Given the description of an element on the screen output the (x, y) to click on. 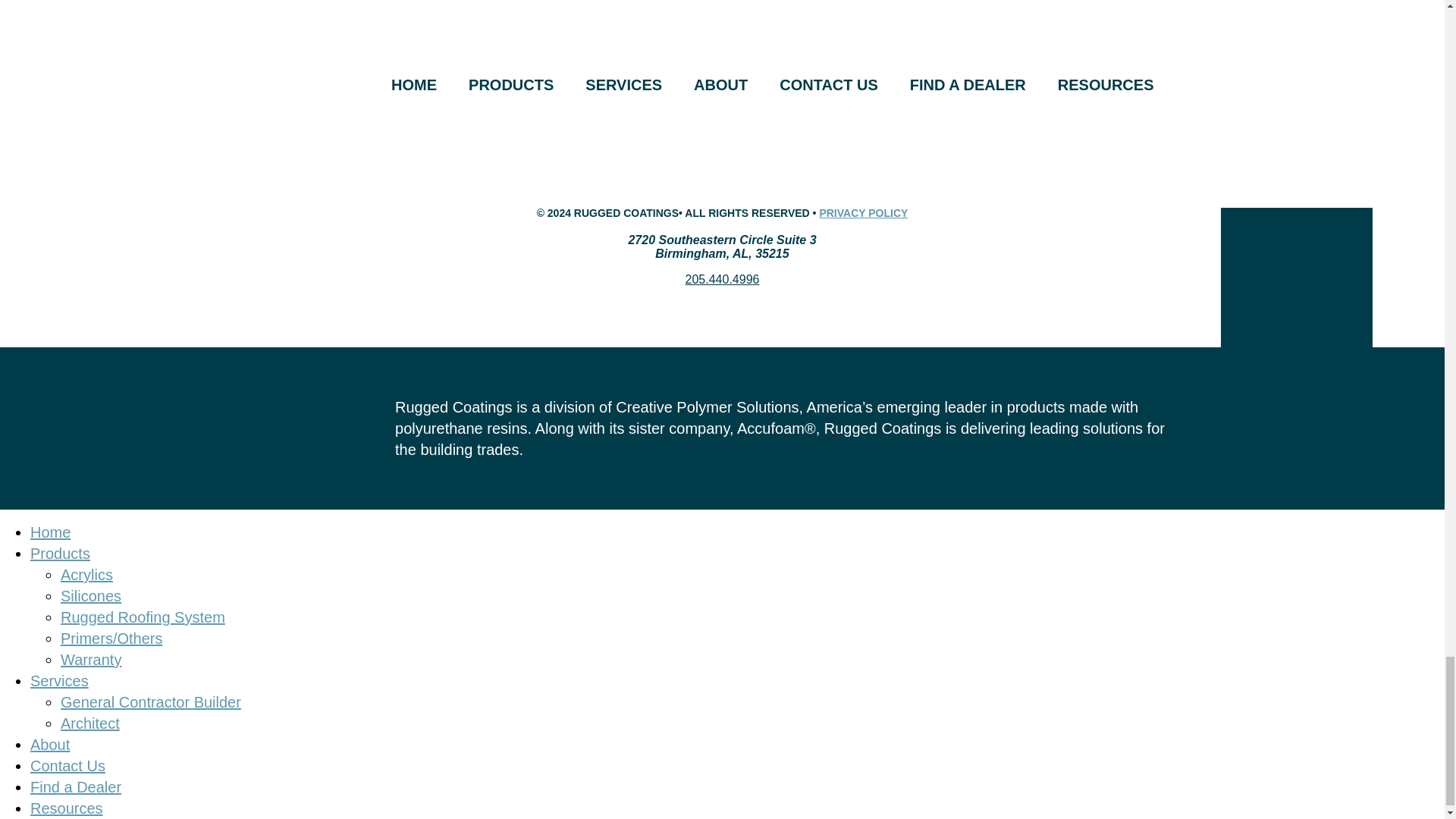
HOME (413, 84)
SERVICES (623, 84)
PRODUCTS (511, 84)
